Given the description of an element on the screen output the (x, y) to click on. 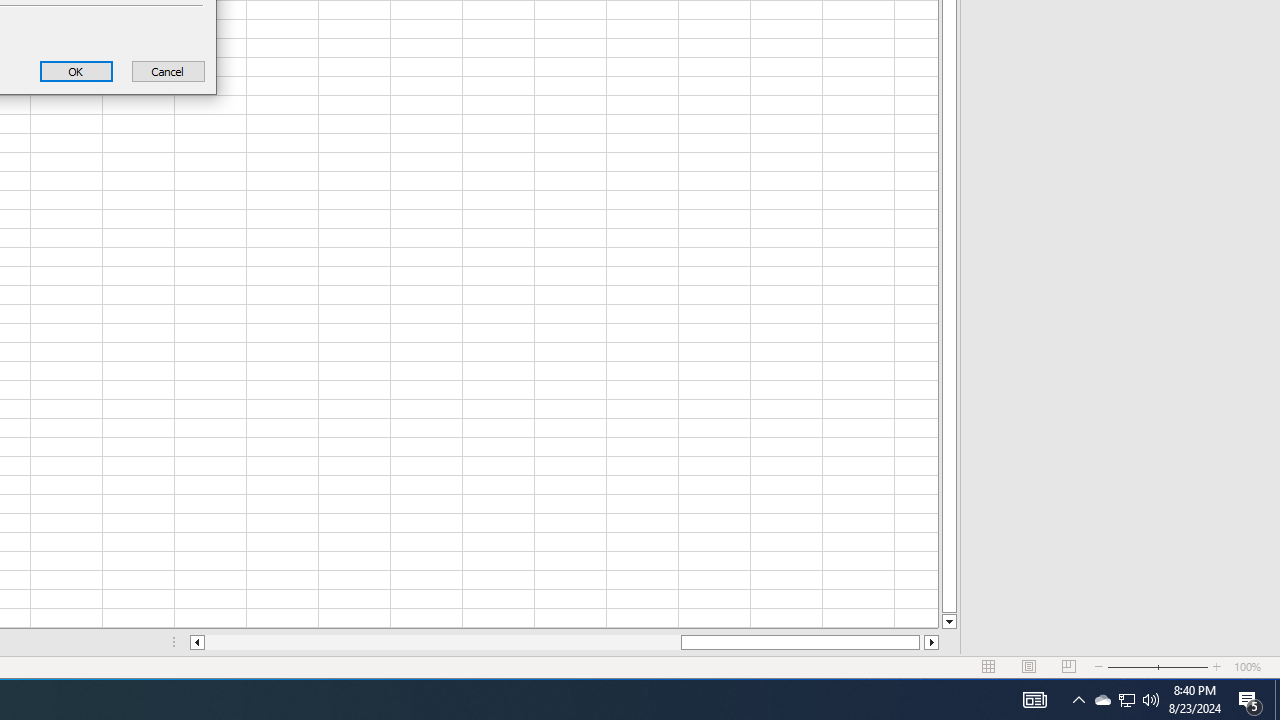
Notification Chevron (1102, 699)
